Given the description of an element on the screen output the (x, y) to click on. 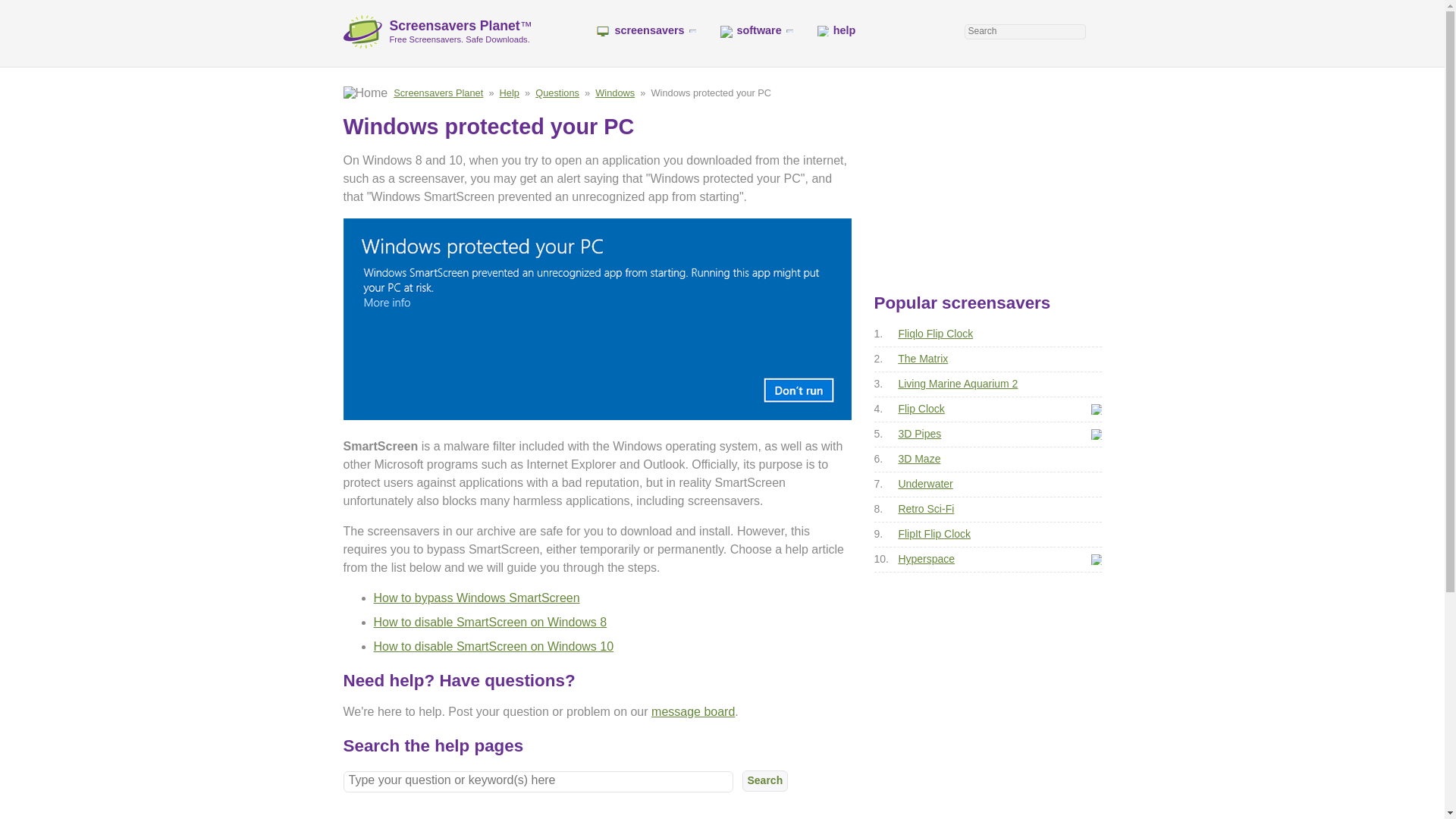
3D Pipes (919, 433)
-1 (1095, 434)
Hyperspace (926, 558)
Living Marine Aquarium 2 (957, 383)
Flip Clock (920, 408)
Questions (557, 92)
Search (764, 780)
Retro Sci-Fi (925, 508)
How to bypass Windows SmartScreen (475, 597)
help (844, 30)
